Given the description of an element on the screen output the (x, y) to click on. 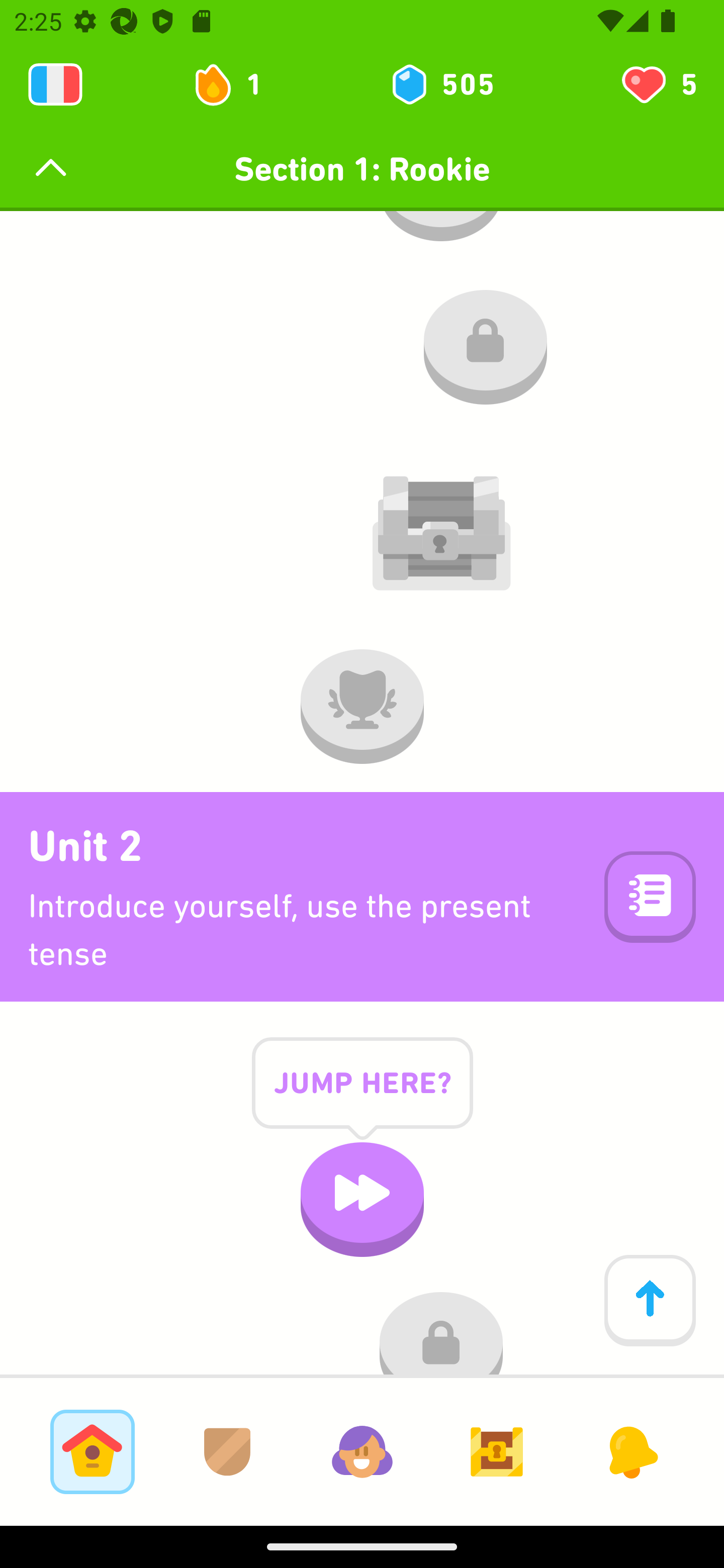
Learning 2131888976 (55, 84)
1 day streak 1 (236, 84)
505 (441, 84)
You have 5 hearts left 5 (657, 84)
Section 1: Rookie (362, 169)
JUMP HERE? (361, 1098)
Learn Tab (91, 1451)
Leagues Tab (227, 1451)
Profile Tab (361, 1451)
Goals Tab (496, 1451)
News Tab (631, 1451)
